Given the description of an element on the screen output the (x, y) to click on. 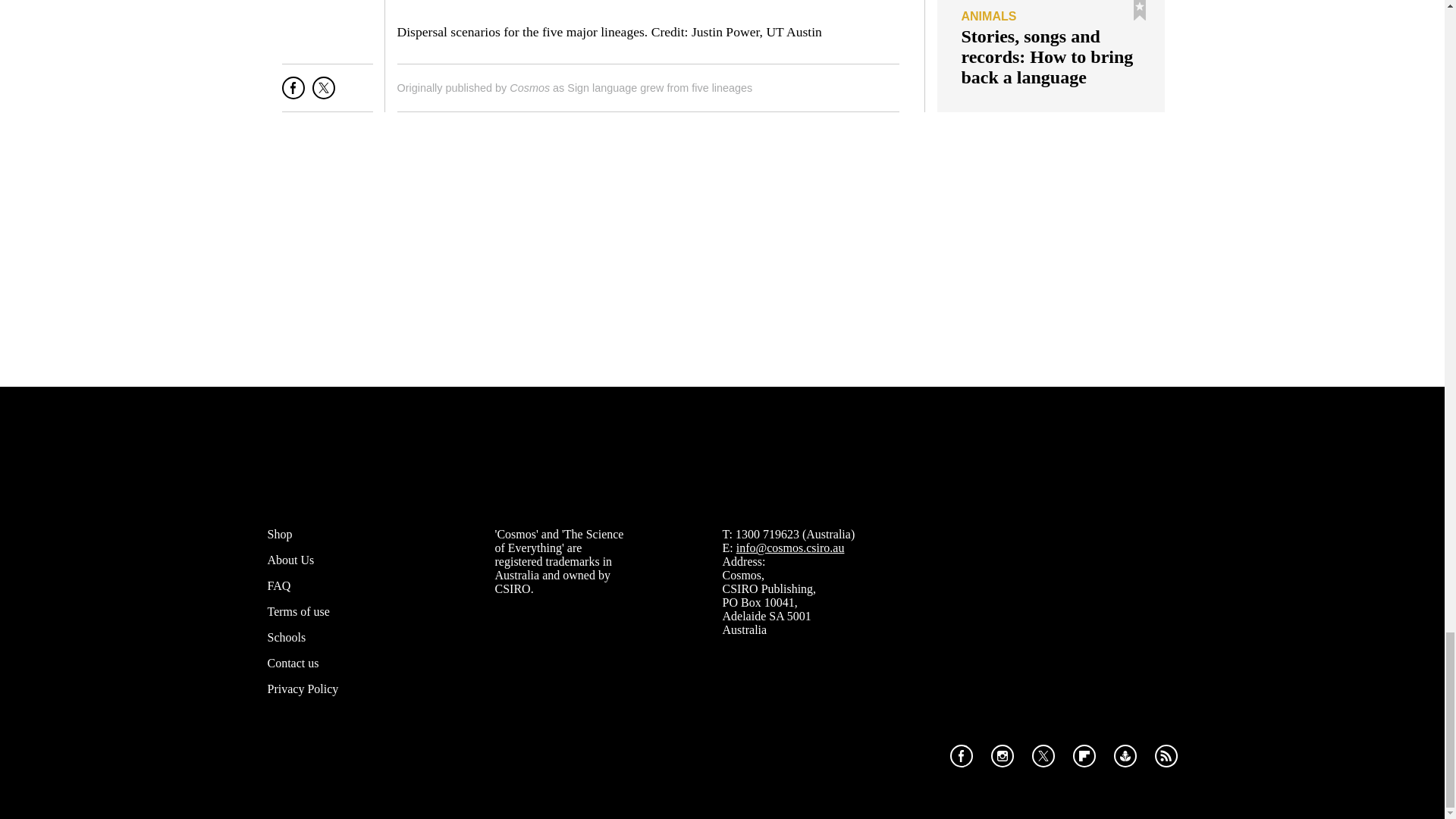
sign language grew from five lineages 2 (648, 7)
Sign language grew from five lineages (659, 87)
Tweet (323, 93)
Share on Facebook (293, 93)
